Given the description of an element on the screen output the (x, y) to click on. 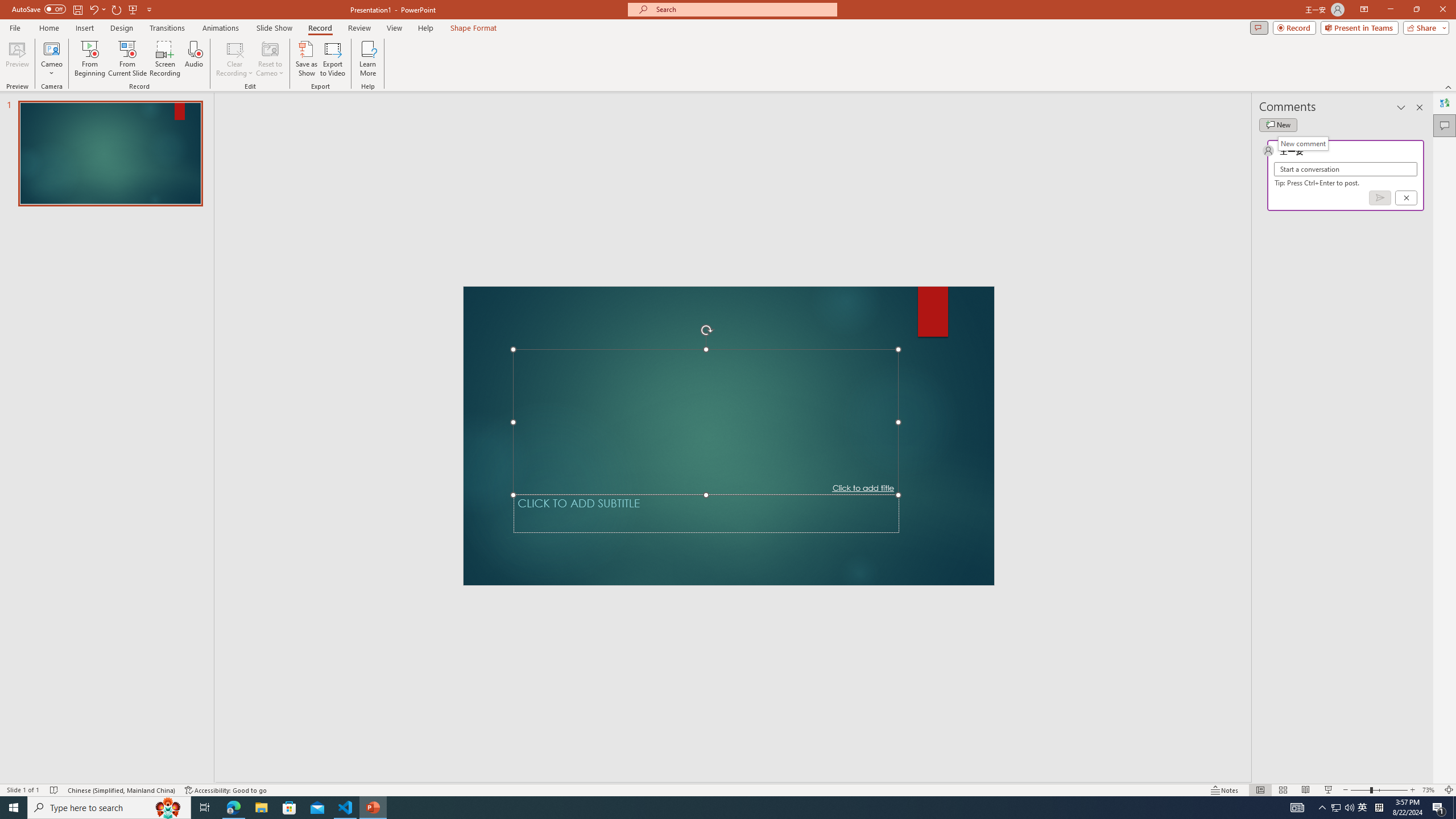
Post comment (Ctrl + Enter) (1379, 197)
